Given the description of an element on the screen output the (x, y) to click on. 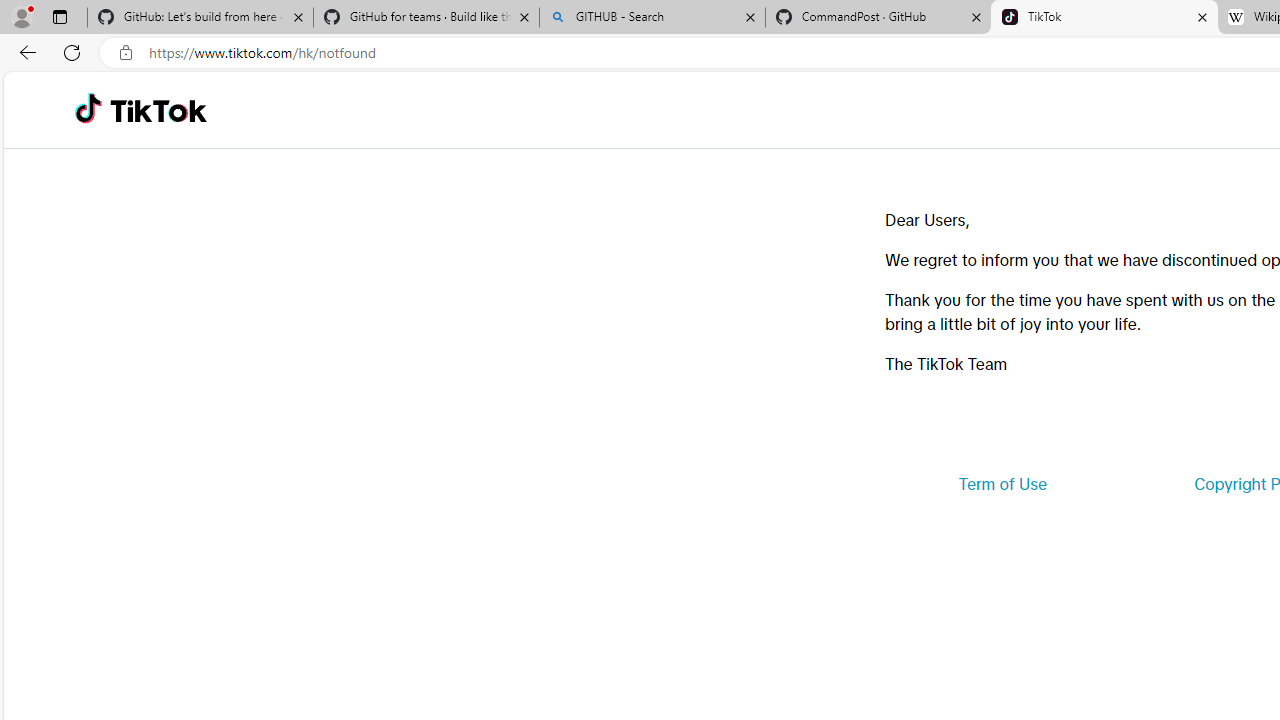
Term of Use (1002, 484)
TikTok (1104, 17)
TikTok (158, 110)
GITHUB - Search (652, 17)
